Given the description of an element on the screen output the (x, y) to click on. 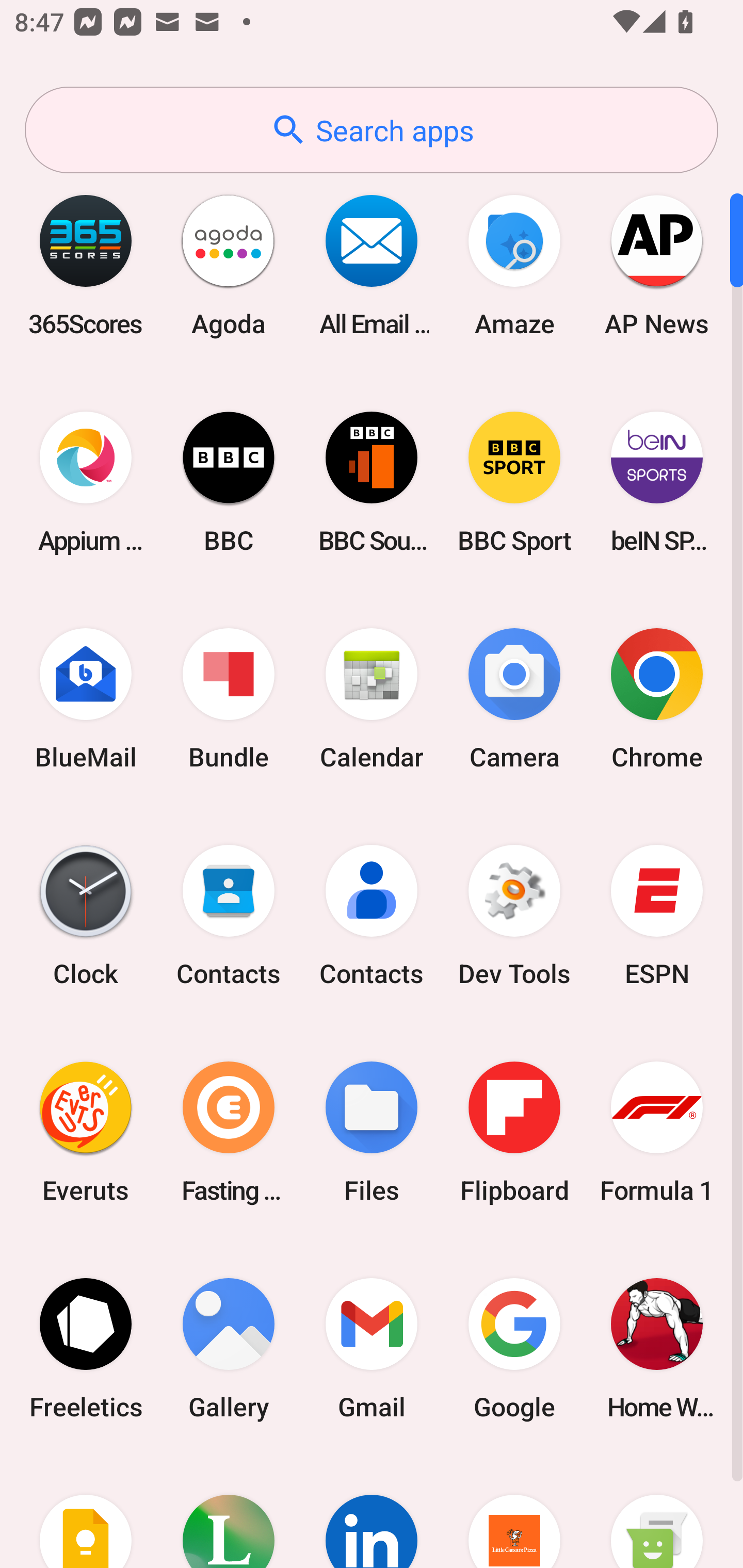
  Search apps (371, 130)
365Scores (85, 264)
Agoda (228, 264)
All Email Connect (371, 264)
Amaze (514, 264)
AP News (656, 264)
Appium Settings (85, 482)
BBC (228, 482)
BBC Sounds (371, 482)
BBC Sport (514, 482)
beIN SPORTS (656, 482)
BlueMail (85, 699)
Bundle (228, 699)
Calendar (371, 699)
Camera (514, 699)
Chrome (656, 699)
Clock (85, 915)
Contacts (228, 915)
Contacts (371, 915)
Dev Tools (514, 915)
ESPN (656, 915)
Everuts (85, 1131)
Fasting Coach (228, 1131)
Files (371, 1131)
Flipboard (514, 1131)
Formula 1 (656, 1131)
Freeletics (85, 1348)
Gallery (228, 1348)
Gmail (371, 1348)
Google (514, 1348)
Home Workout (656, 1348)
Keep Notes (85, 1512)
Lifesum (228, 1512)
LinkedIn (371, 1512)
Little Caesars Pizza (514, 1512)
Messaging (656, 1512)
